Given the description of an element on the screen output the (x, y) to click on. 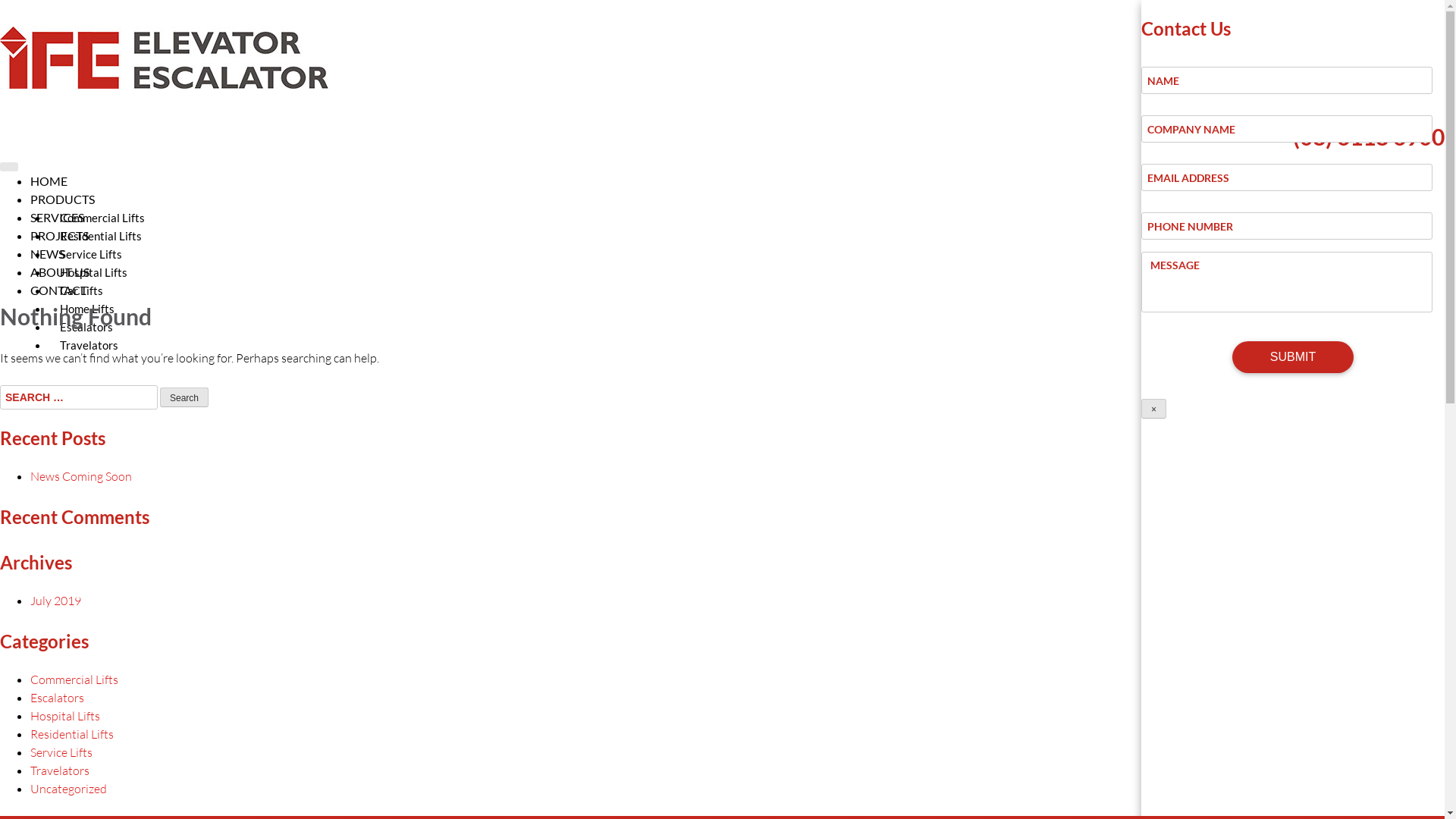
(08) 6118 6900 Element type: text (1368, 136)
Service Lifts Element type: text (61, 751)
Commercial Lifts Element type: text (74, 679)
Commercial Lifts Element type: text (102, 217)
PROJECTS Element type: text (731, 235)
Residential Lifts Element type: text (71, 733)
July 2019 Element type: text (55, 600)
Uncategorized Element type: text (68, 788)
Hospital Lifts Element type: text (93, 271)
Travelators Element type: text (88, 344)
Service Lifts Element type: text (90, 253)
Residential Lifts Element type: text (100, 235)
Escalators Element type: text (86, 326)
Travelators Element type: text (59, 770)
SERVICES Element type: text (731, 217)
Home Lifts Element type: text (86, 308)
IFE Elevators & Escalators Element type: text (67, 114)
Car Lifts Element type: text (81, 290)
ABOUT US Element type: text (731, 272)
HOME Element type: text (731, 181)
News Coming Soon Element type: text (80, 475)
Escalators Element type: text (57, 697)
Search Element type: text (184, 397)
NEWS Element type: text (731, 253)
Hospital Lifts Element type: text (65, 715)
CONTACT Element type: text (737, 290)
Submit Element type: text (1292, 357)
PRODUCTS Element type: text (731, 199)
